Given the description of an element on the screen output the (x, y) to click on. 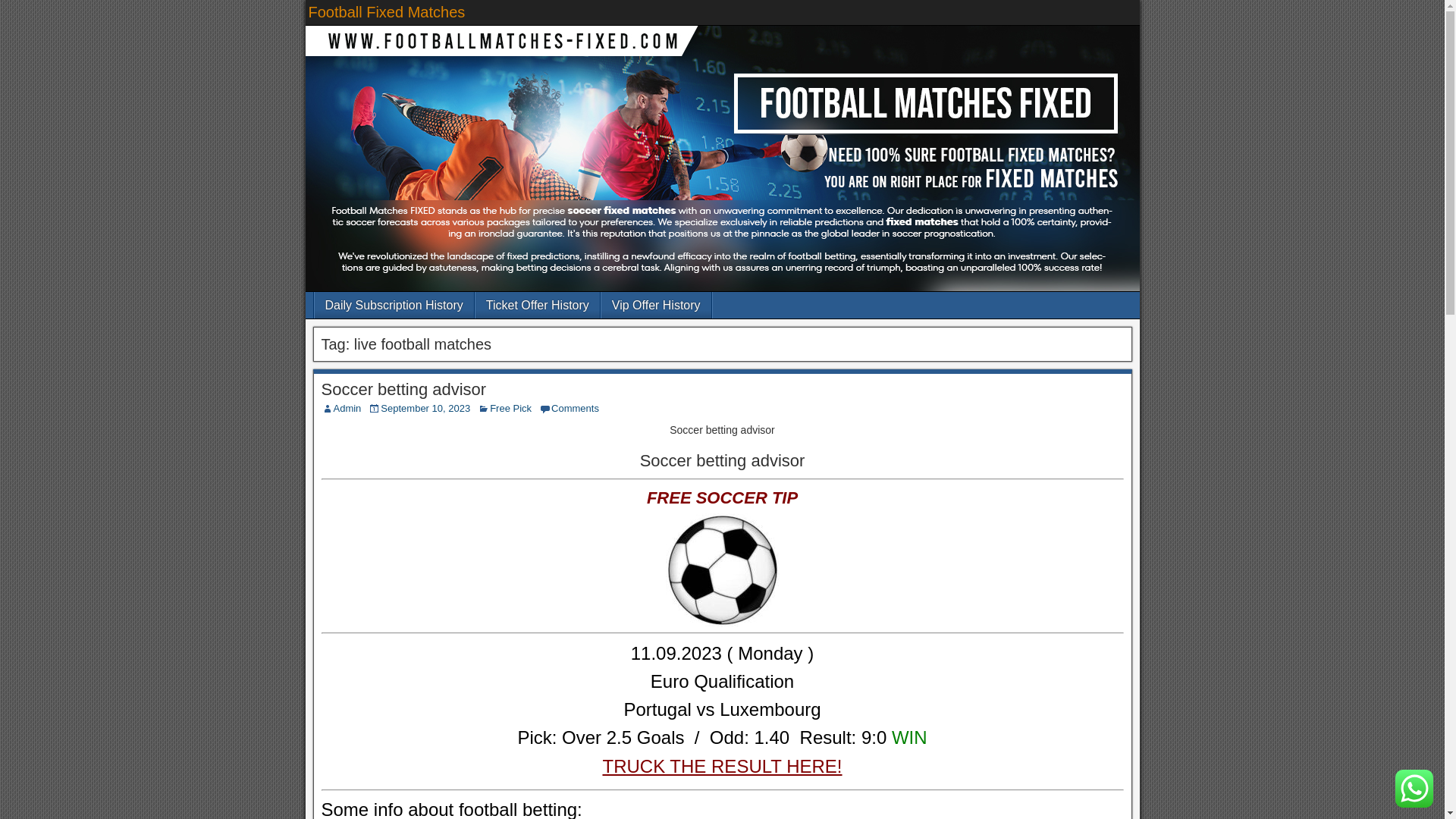
Admin (347, 408)
Comments (574, 408)
Parva liga (722, 709)
Ticket Offer History (537, 304)
Vip Offer History (656, 304)
Football Fixed Matches (385, 12)
Parva liga (721, 751)
September 10, 2023 (425, 408)
Free Pick (510, 408)
TRUCK THE RESULT HERE! (721, 765)
Daily Subscription History (393, 304)
Soccer betting advisor (403, 389)
Parva liga (451, 809)
